Given the description of an element on the screen output the (x, y) to click on. 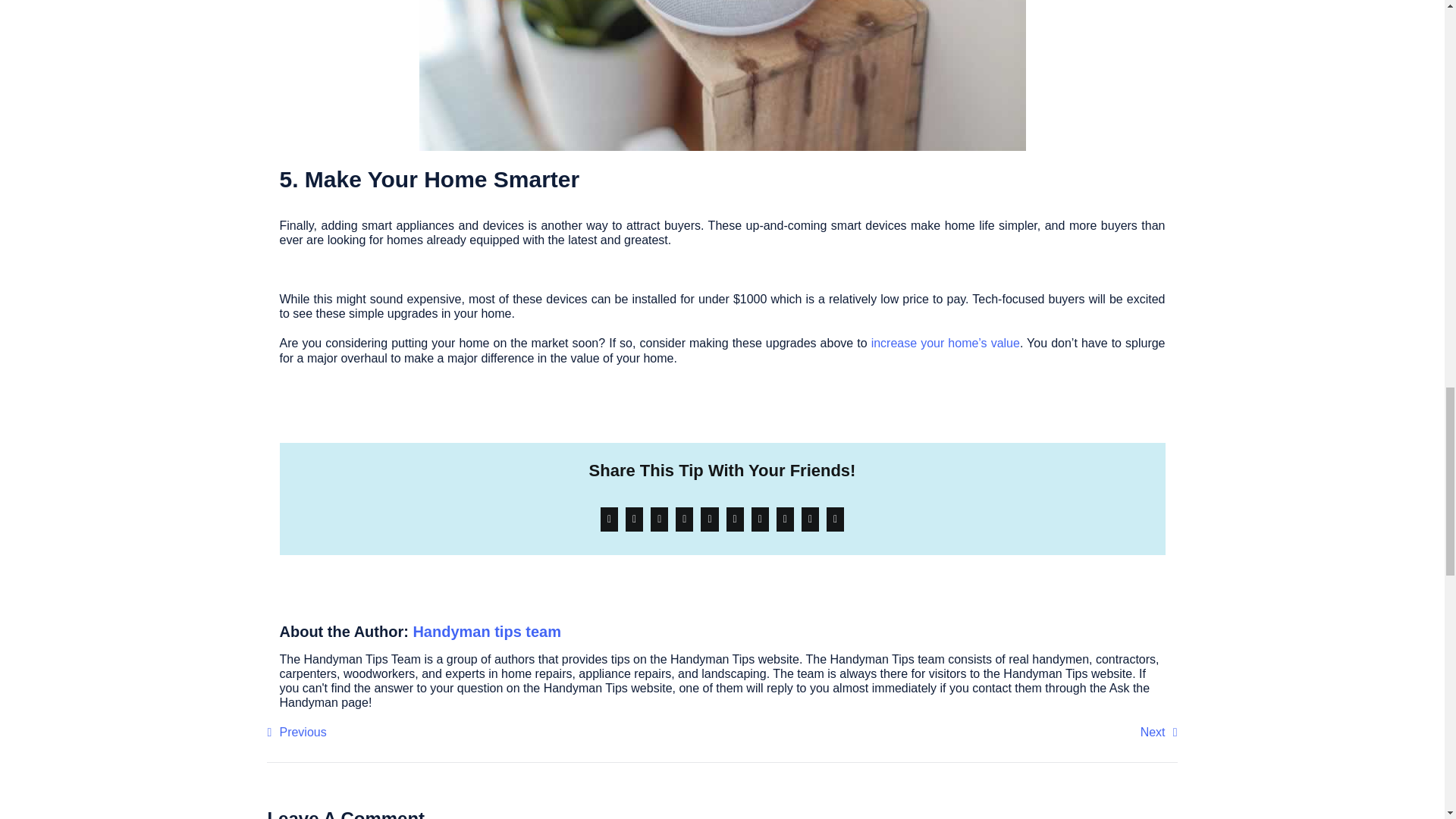
Previous (296, 732)
Next (1158, 732)
Handyman tips team (486, 631)
